Given the description of an element on the screen output the (x, y) to click on. 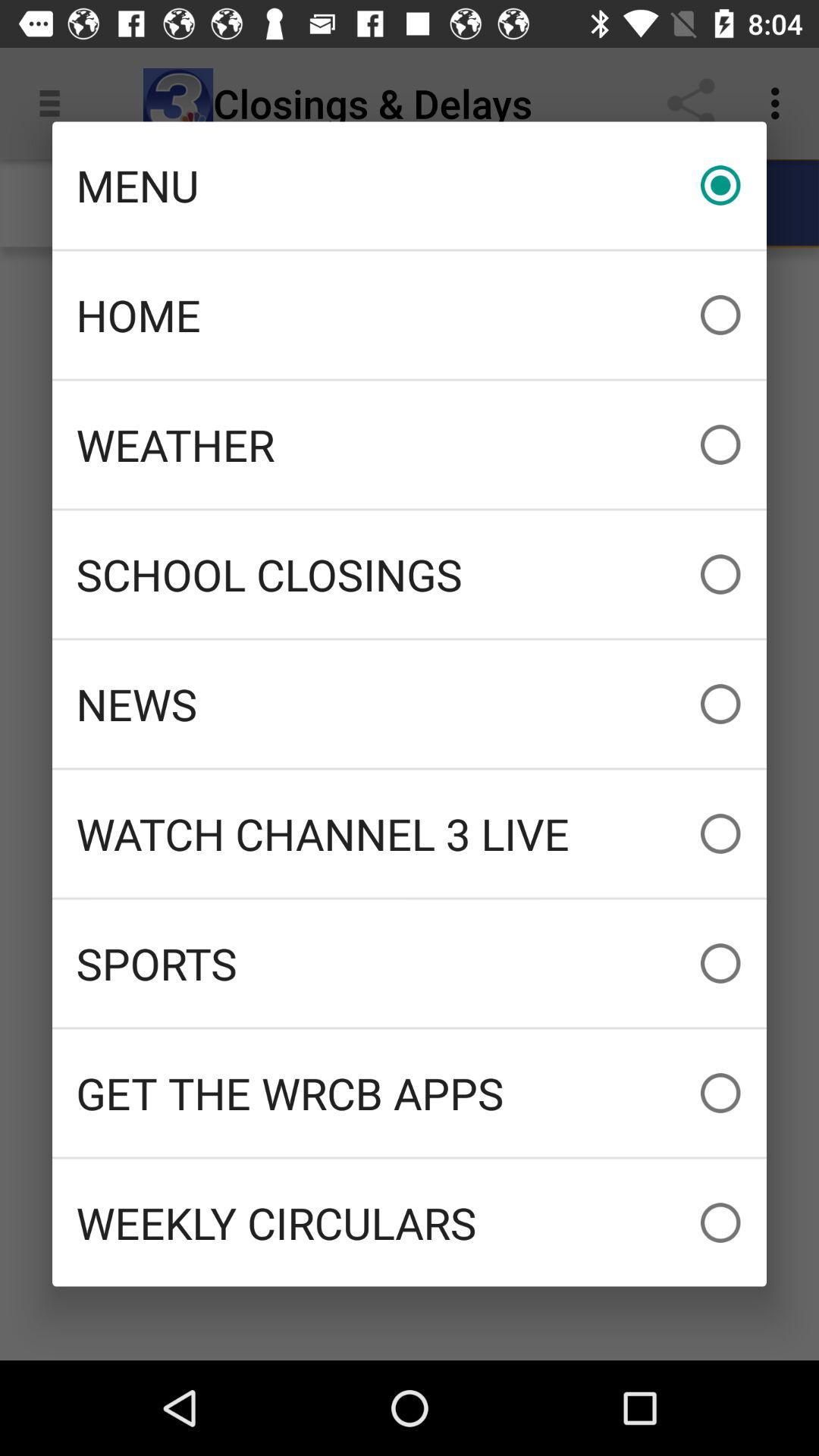
select the item below the sports icon (409, 1092)
